Given the description of an element on the screen output the (x, y) to click on. 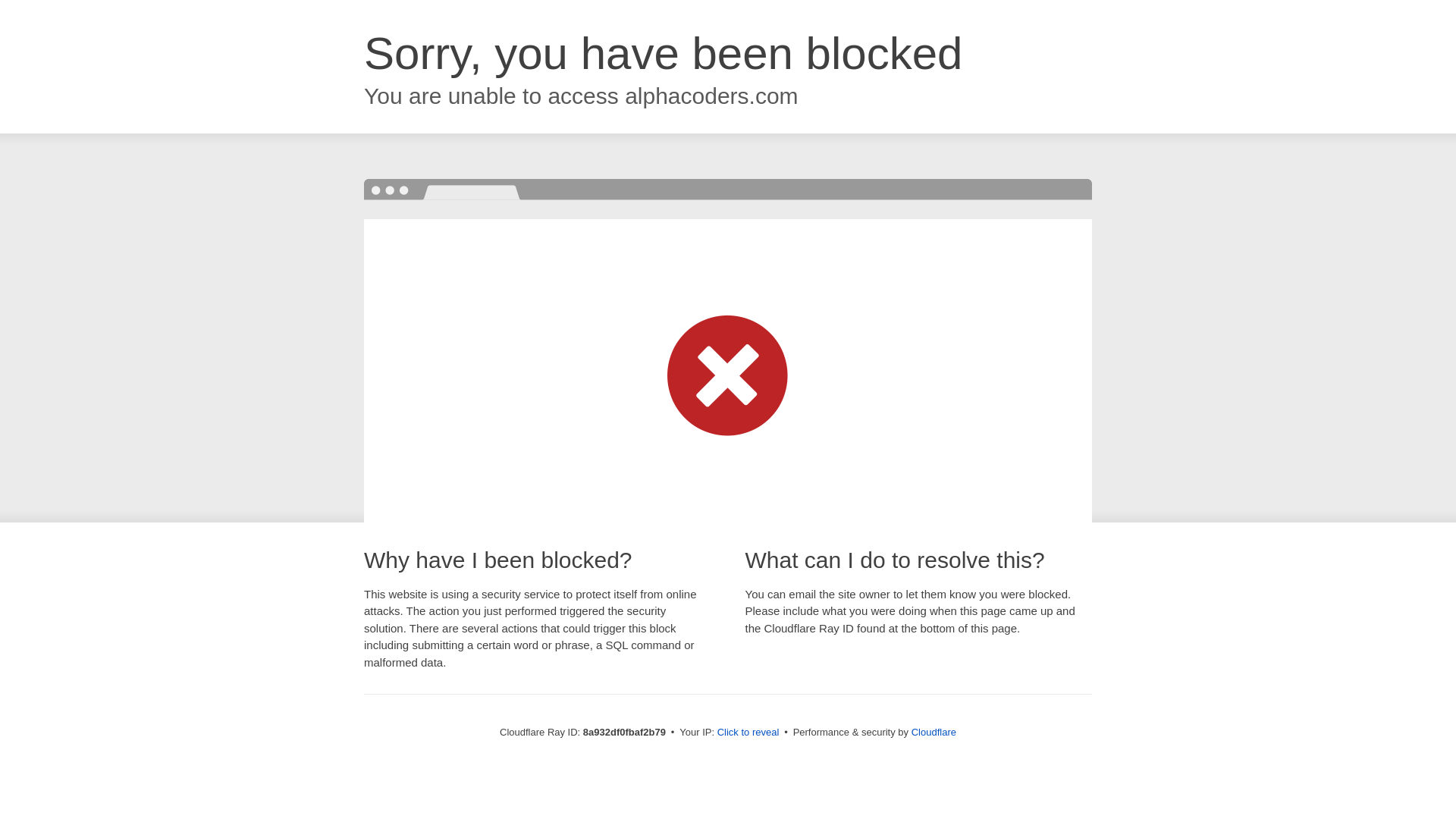
Cloudflare (933, 731)
Click to reveal (747, 732)
